Given the description of an element on the screen output the (x, y) to click on. 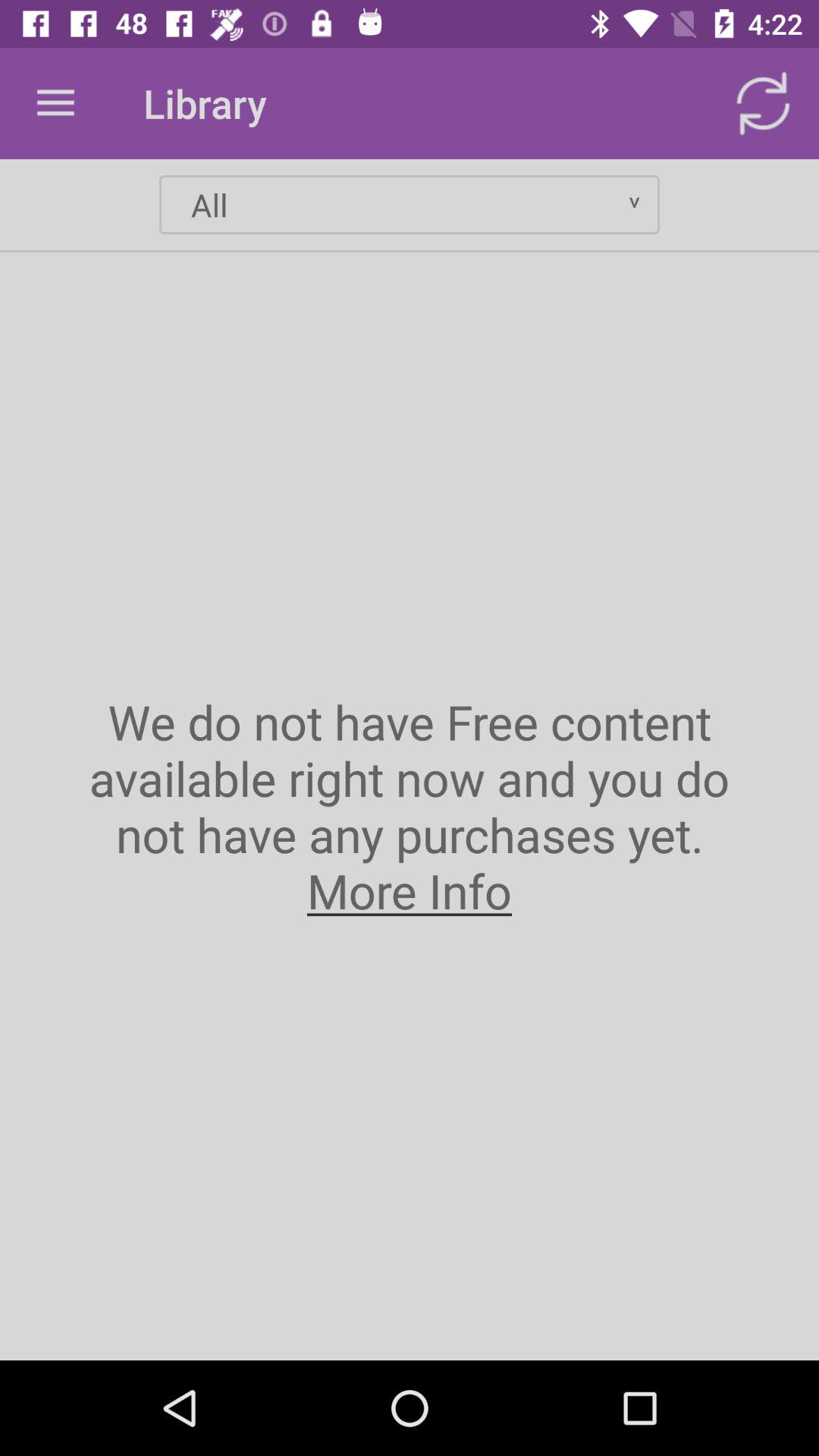
launch item to the left of the library icon (55, 103)
